Given the description of an element on the screen output the (x, y) to click on. 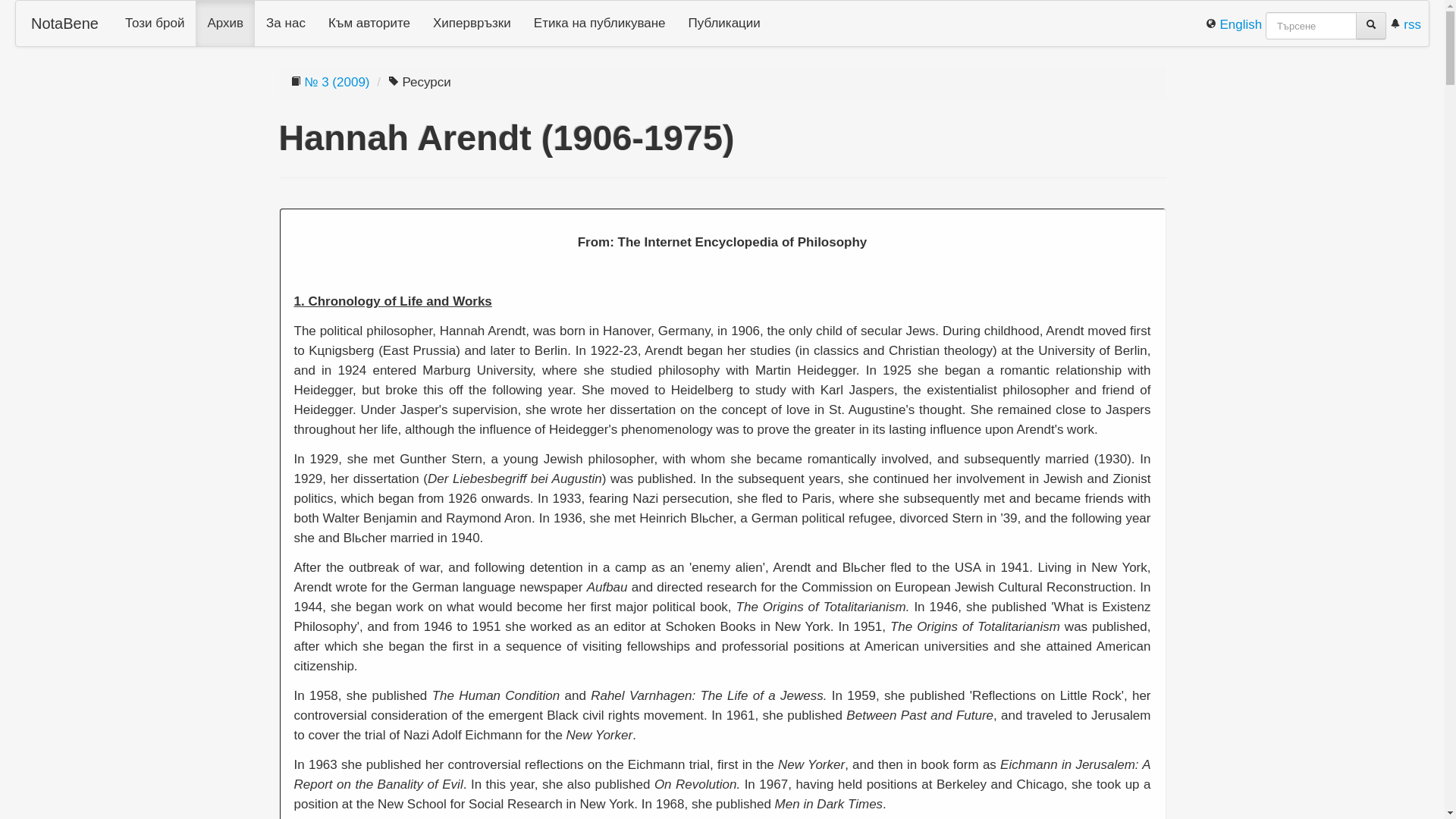
rss (1405, 24)
Switch to English language (1235, 24)
NotaBene (64, 22)
Follow new releases via RSS Atom feed (1405, 24)
English (1235, 24)
